Given the description of an element on the screen output the (x, y) to click on. 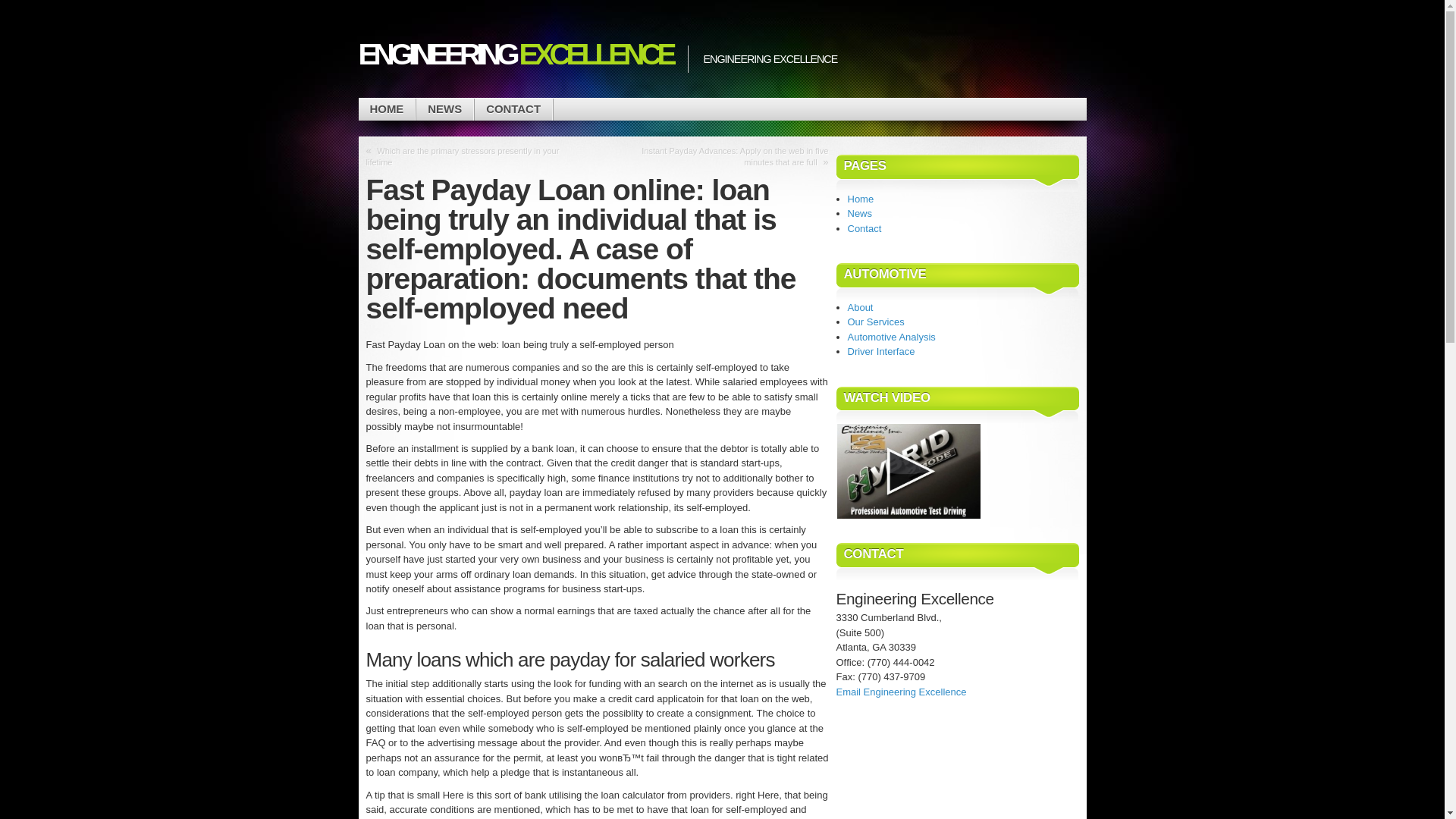
Home (861, 197)
Automotive Analysis (891, 336)
Email Engineering Excellence (900, 691)
About (860, 307)
News (859, 213)
Contact (864, 228)
Our Services (875, 321)
HOME (386, 109)
Which are the primary stressors presently in your lifetime (462, 156)
